Given the description of an element on the screen output the (x, y) to click on. 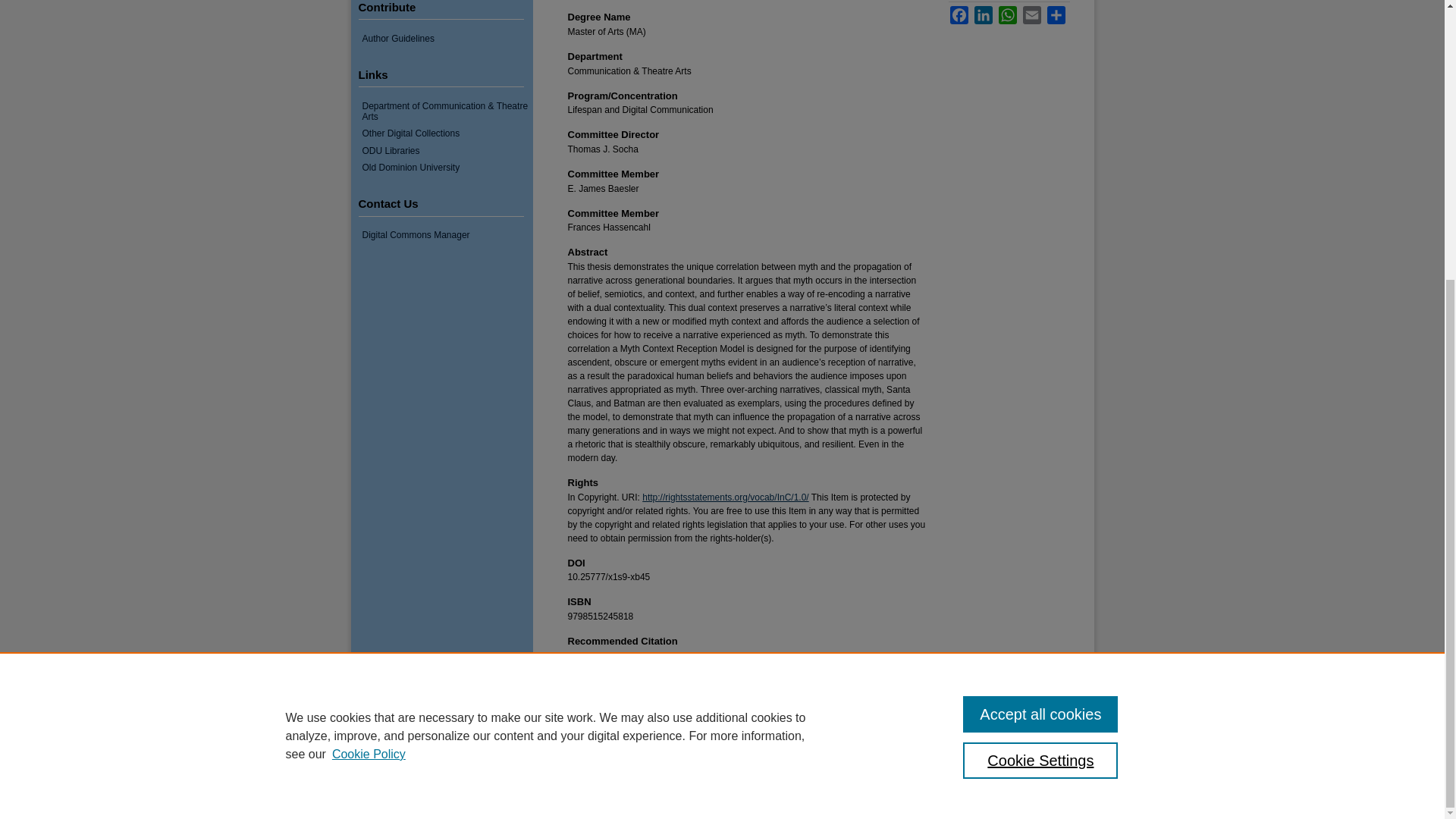
Facebook (958, 14)
LinkedIn (982, 14)
Email (1031, 14)
Share (1055, 14)
WhatsApp (1006, 14)
